Given the description of an element on the screen output the (x, y) to click on. 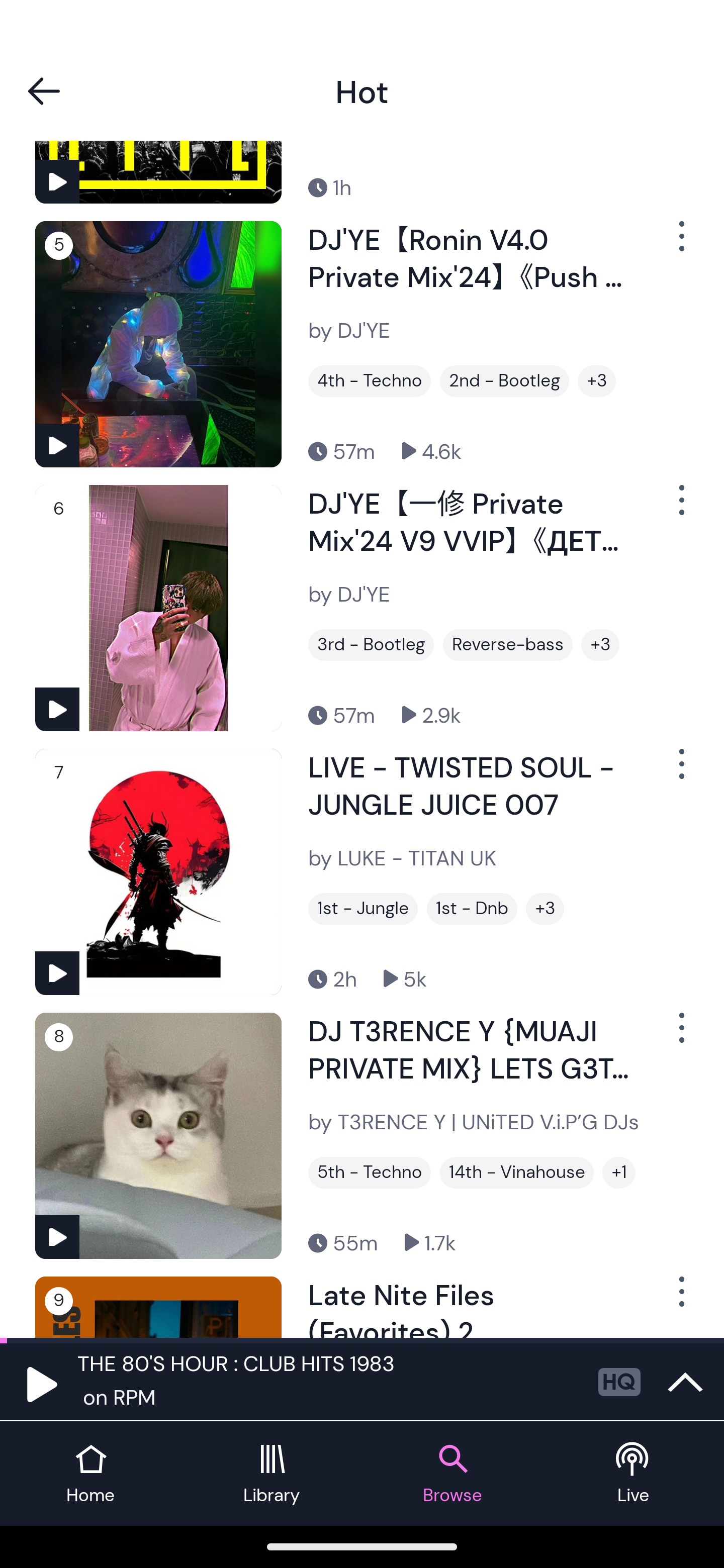
Show Options Menu Button (679, 243)
4th - Techno (369, 380)
2nd - Bootleg (504, 380)
Show Options Menu Button (679, 506)
3rd - Bootleg (370, 644)
Reverse-bass (507, 644)
Show Options Menu Button (679, 771)
1st - Jungle (362, 909)
1st - Dnb (472, 909)
Show Options Menu Button (679, 1035)
5th - Techno (369, 1172)
14th - Vinahouse (516, 1172)
Show Options Menu Button (679, 1298)
Home tab Home (90, 1473)
Library tab Library (271, 1473)
Browse tab Browse (452, 1473)
Live tab Live (633, 1473)
